Given the description of an element on the screen output the (x, y) to click on. 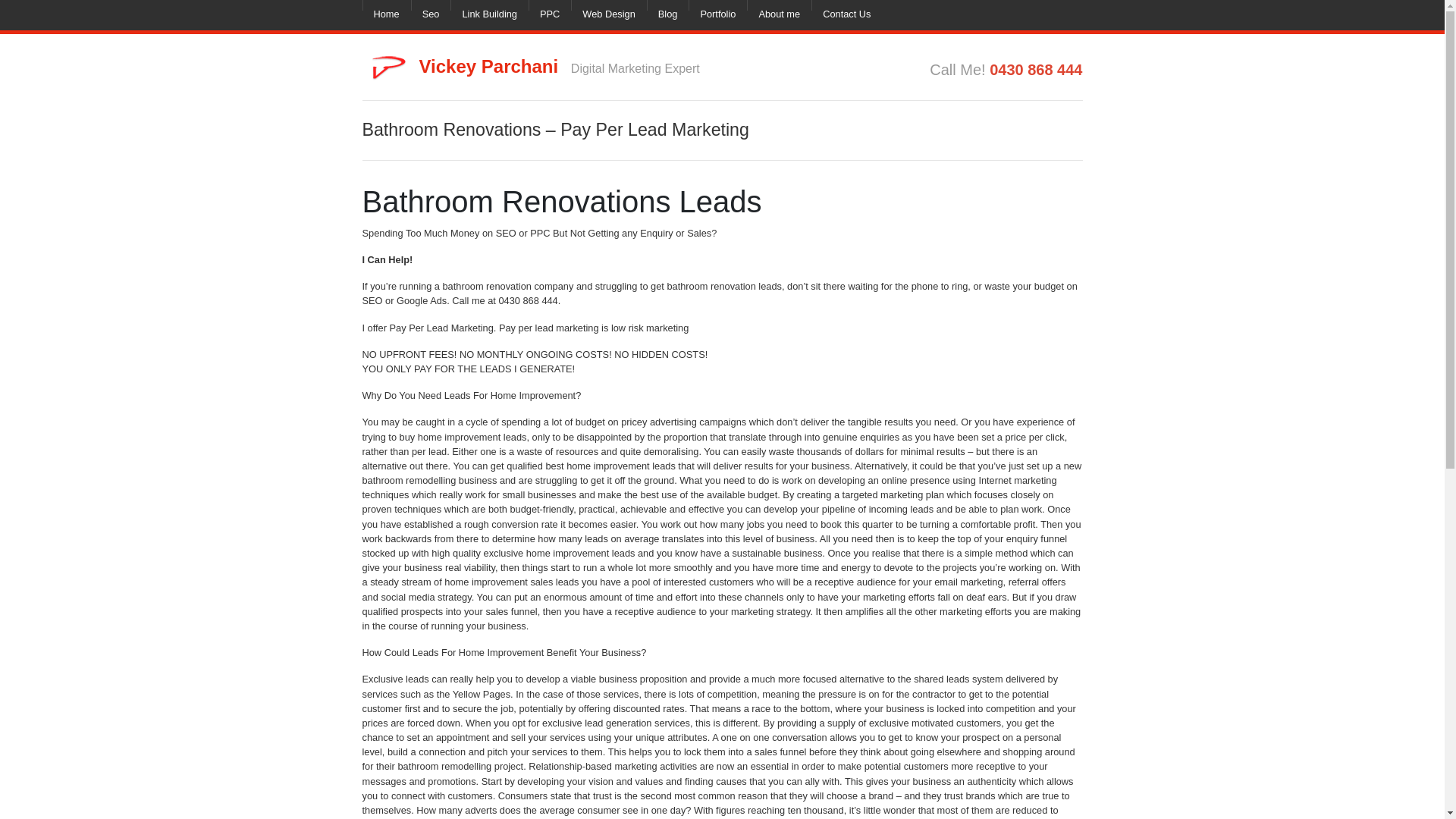
Vickey Parchani Logo (384, 67)
Seo (430, 15)
Link Building (488, 15)
PPC (549, 15)
Web Design (608, 15)
0430 868 444 (1035, 69)
Contact Us (846, 15)
Seo (430, 15)
Blog (667, 15)
About me (778, 15)
Vickey Parchani (490, 66)
PPC (549, 15)
Blog (667, 15)
Portfolio (717, 15)
About me (778, 15)
